Given the description of an element on the screen output the (x, y) to click on. 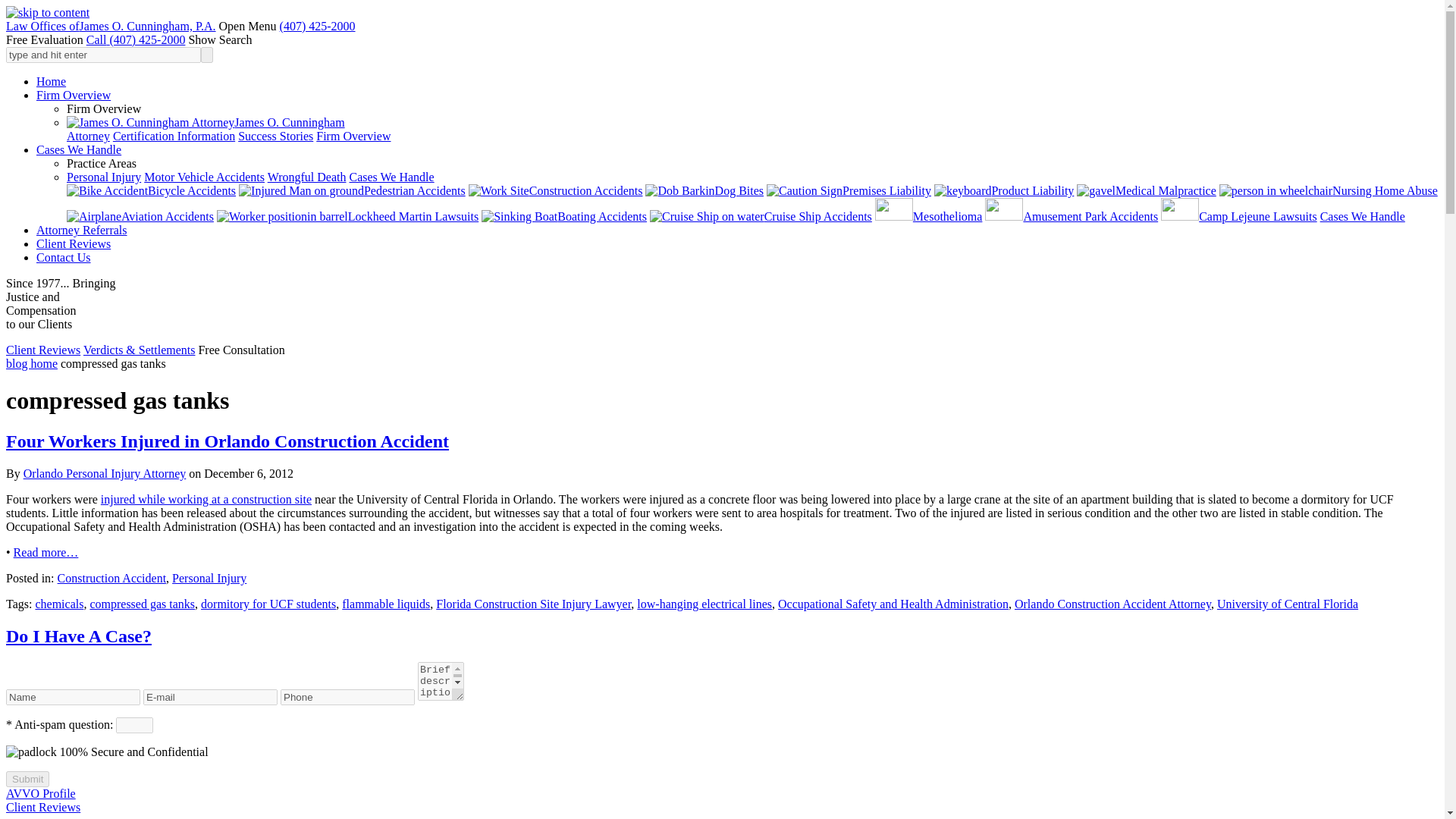
Name (72, 697)
E-mail (210, 697)
Lockheed Martin Lawsuits (347, 215)
Cases We Handle (1362, 215)
Certification Information (173, 135)
Contact Us (63, 256)
Medical Malpractice (1146, 190)
Dog Bites (703, 190)
Cases We Handle (82, 149)
Wrongful Death (306, 176)
Bicycle Accidents (150, 190)
Personal Injury (103, 176)
Open Menu (247, 25)
Phone (347, 697)
Aviation Accidents (140, 215)
